Given the description of an element on the screen output the (x, y) to click on. 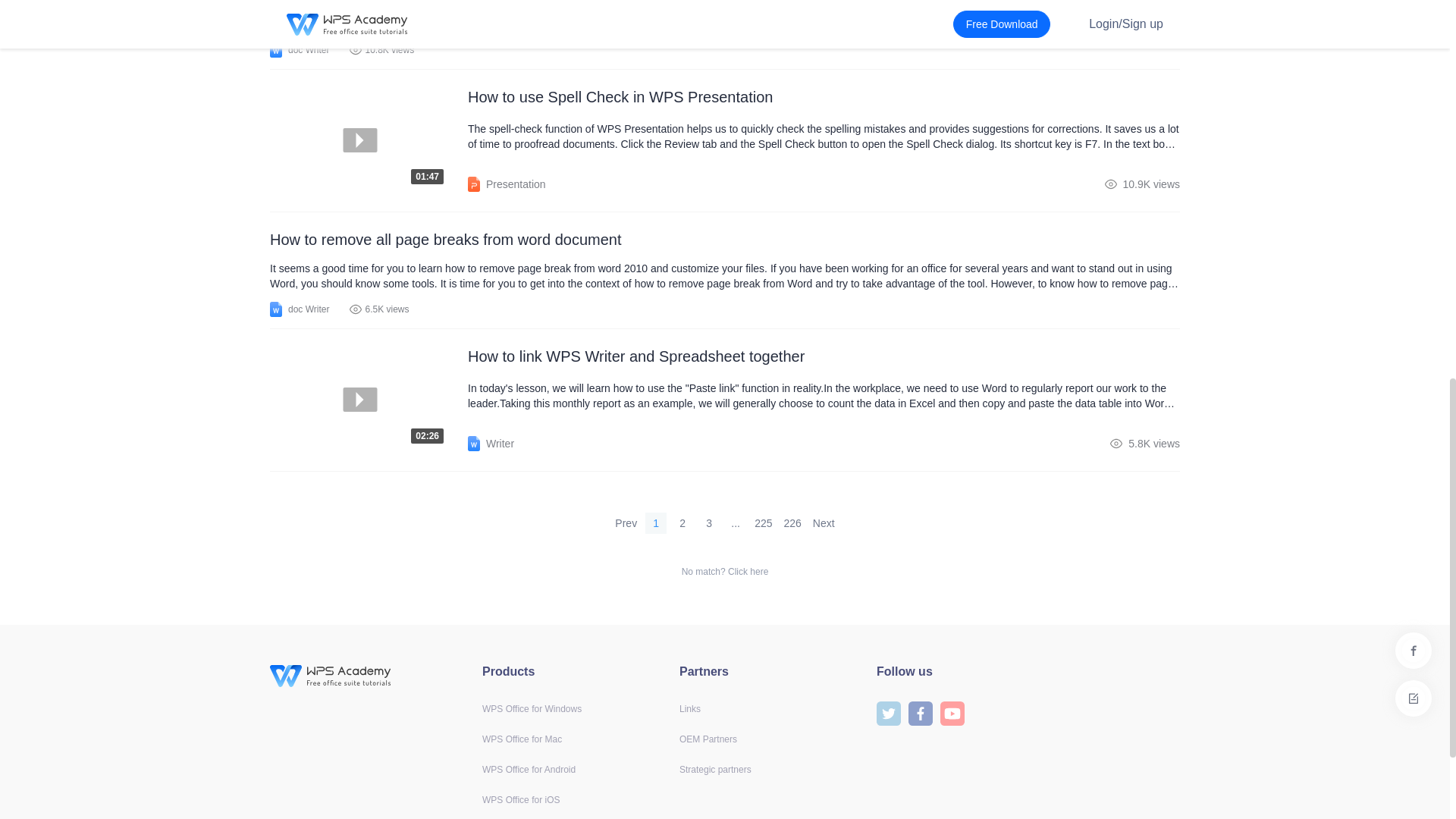
How to select all in WPS Writer (724, 16)
How to use Spell Check in WPS Presentation (823, 96)
How to remove all page breaks from word document (724, 239)
2 (682, 522)
No match? Click here (724, 571)
WPS Office for Mac (521, 738)
226 (792, 522)
WPS Office for iOS (520, 799)
3 (708, 522)
... (368, 399)
How to use Spell Check in WPS Presentation (735, 522)
WPS Office for Windows (368, 140)
